Given the description of an element on the screen output the (x, y) to click on. 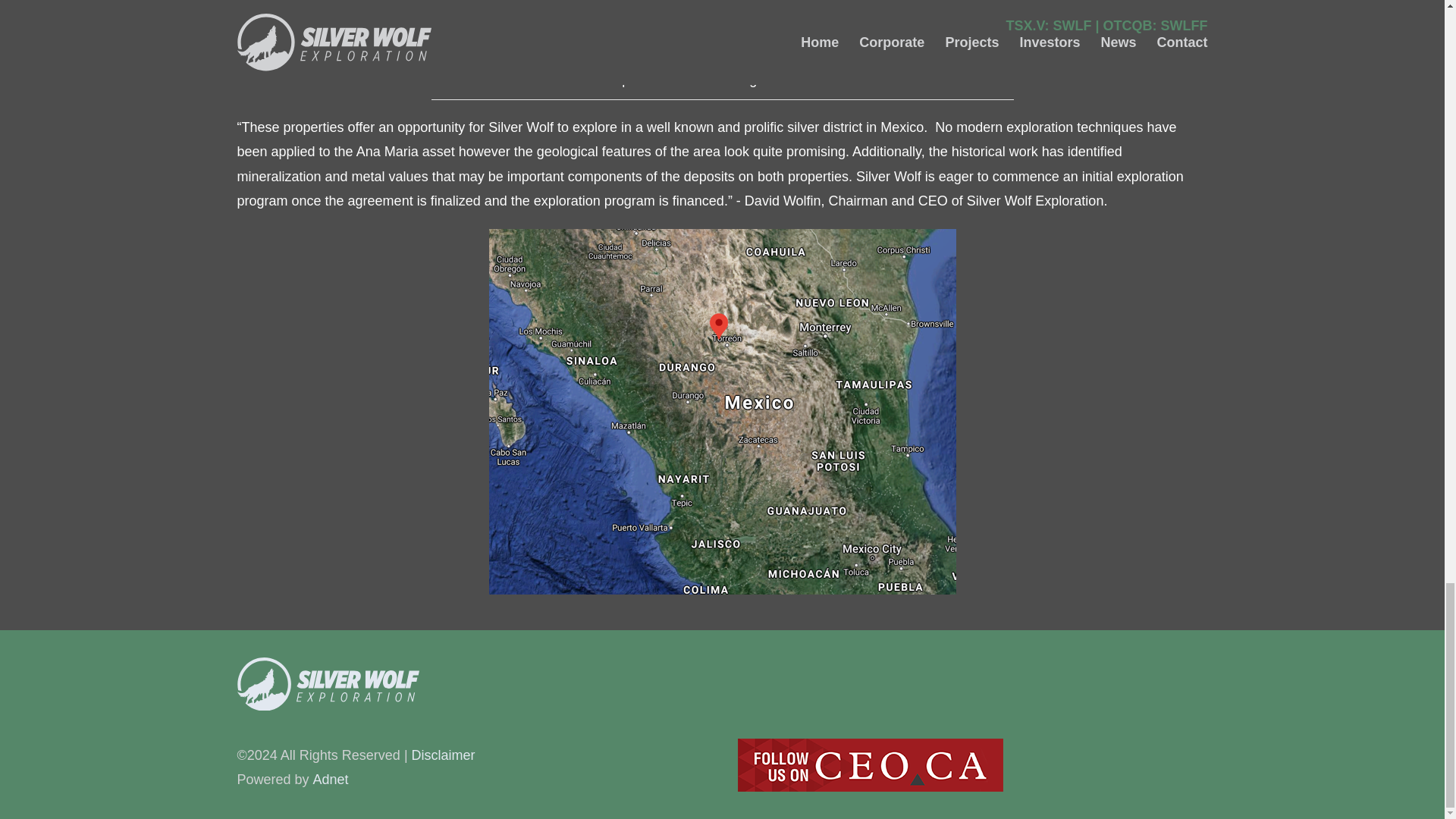
Back to Home Page (471, 684)
Disclaimer (444, 754)
Adnet (331, 779)
